Given the description of an element on the screen output the (x, y) to click on. 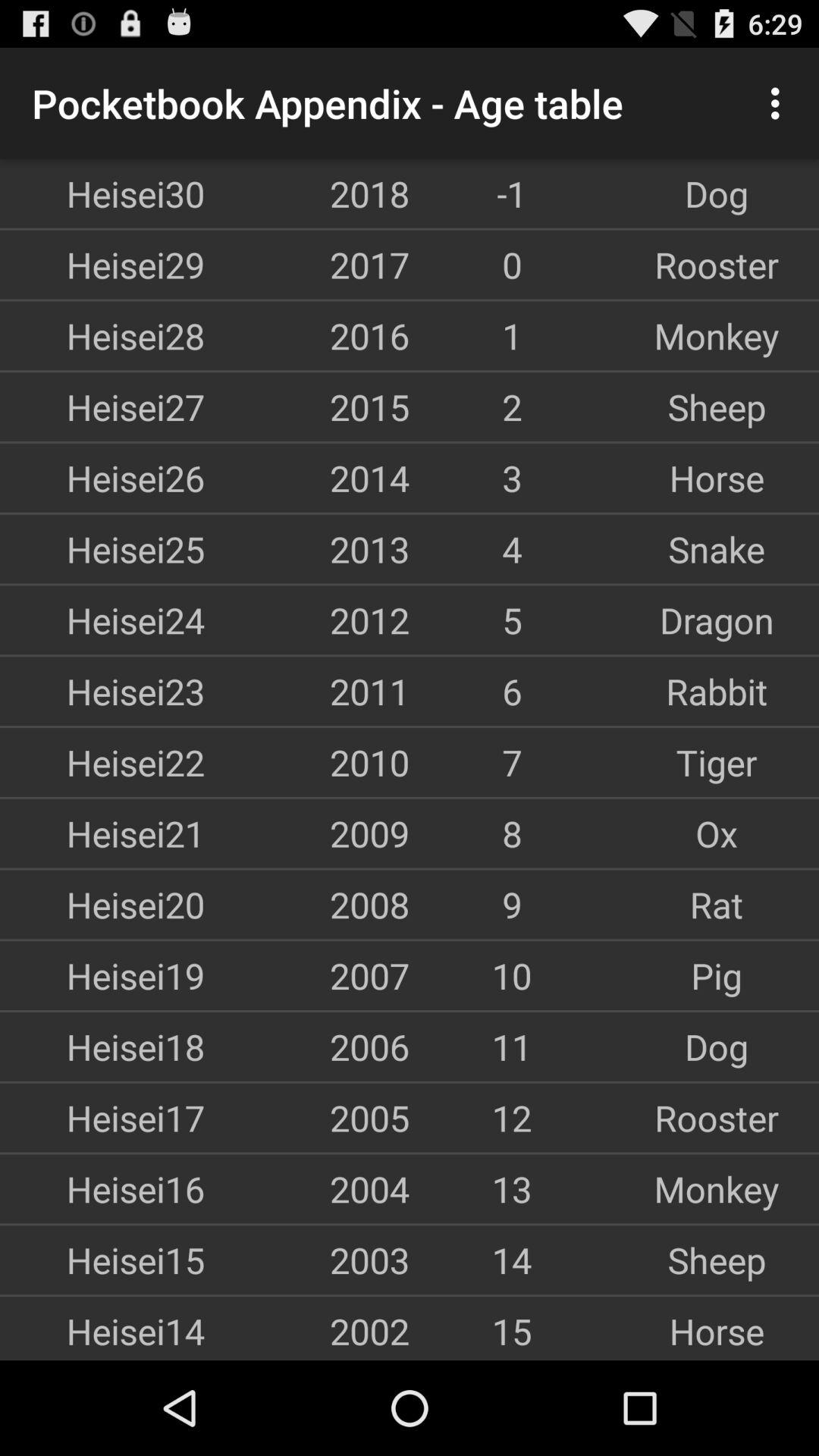
open the app next to the 0 icon (306, 264)
